Given the description of an element on the screen output the (x, y) to click on. 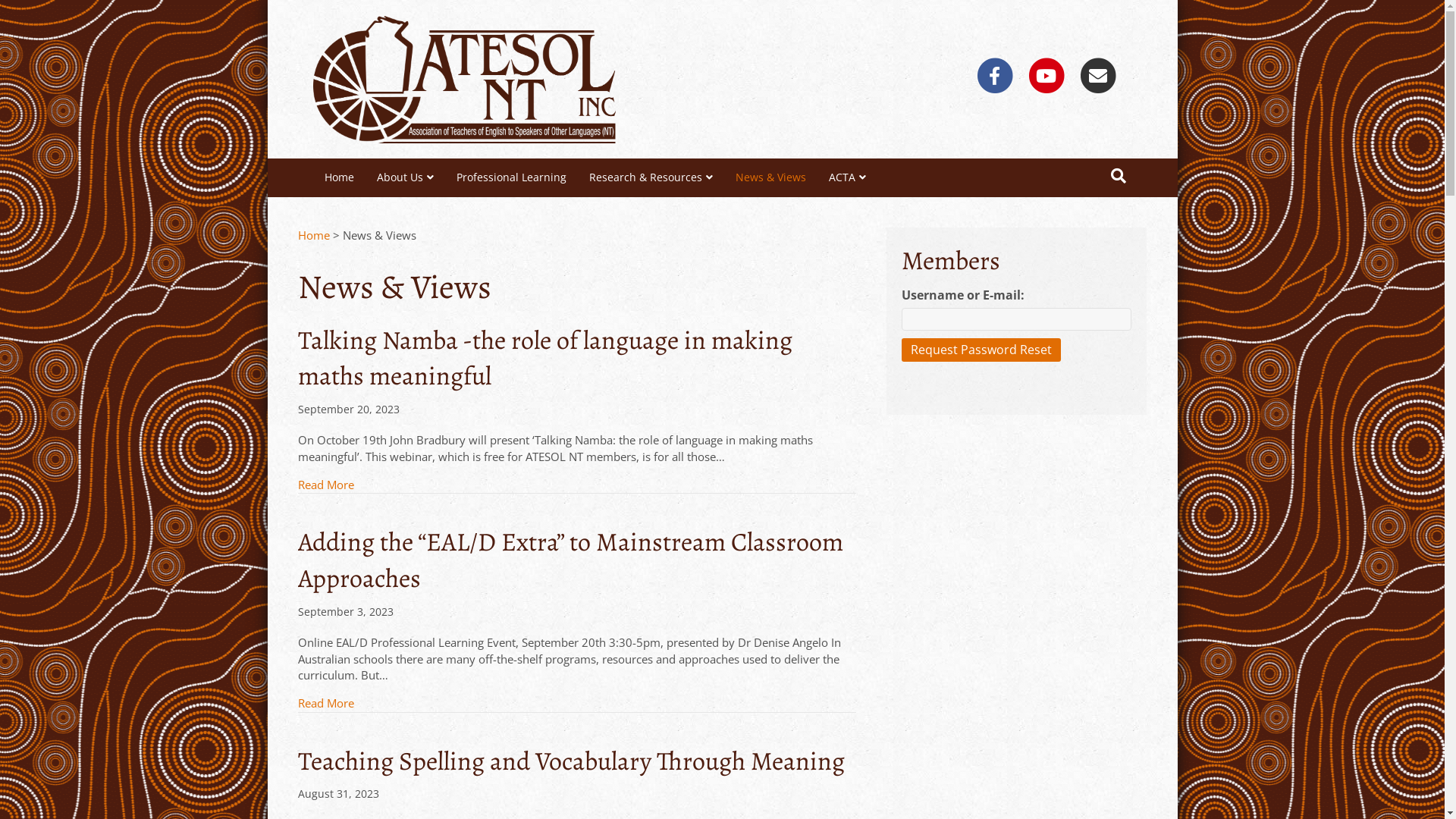
Research & Resources Element type: text (650, 177)
Email Element type: text (1097, 75)
Read More Element type: text (325, 484)
Teaching Spelling and Vocabulary Through Meaning Element type: text (570, 760)
ACTA Element type: text (847, 177)
Home Element type: text (338, 177)
Read More Element type: text (325, 703)
Youtube Element type: text (1046, 75)
Request Password Reset Element type: text (980, 349)
News & Views Element type: text (769, 177)
About Us Element type: text (405, 177)
Facebook Element type: text (994, 75)
Professional Learning Element type: text (510, 177)
Home Element type: text (313, 234)
